Given the description of an element on the screen output the (x, y) to click on. 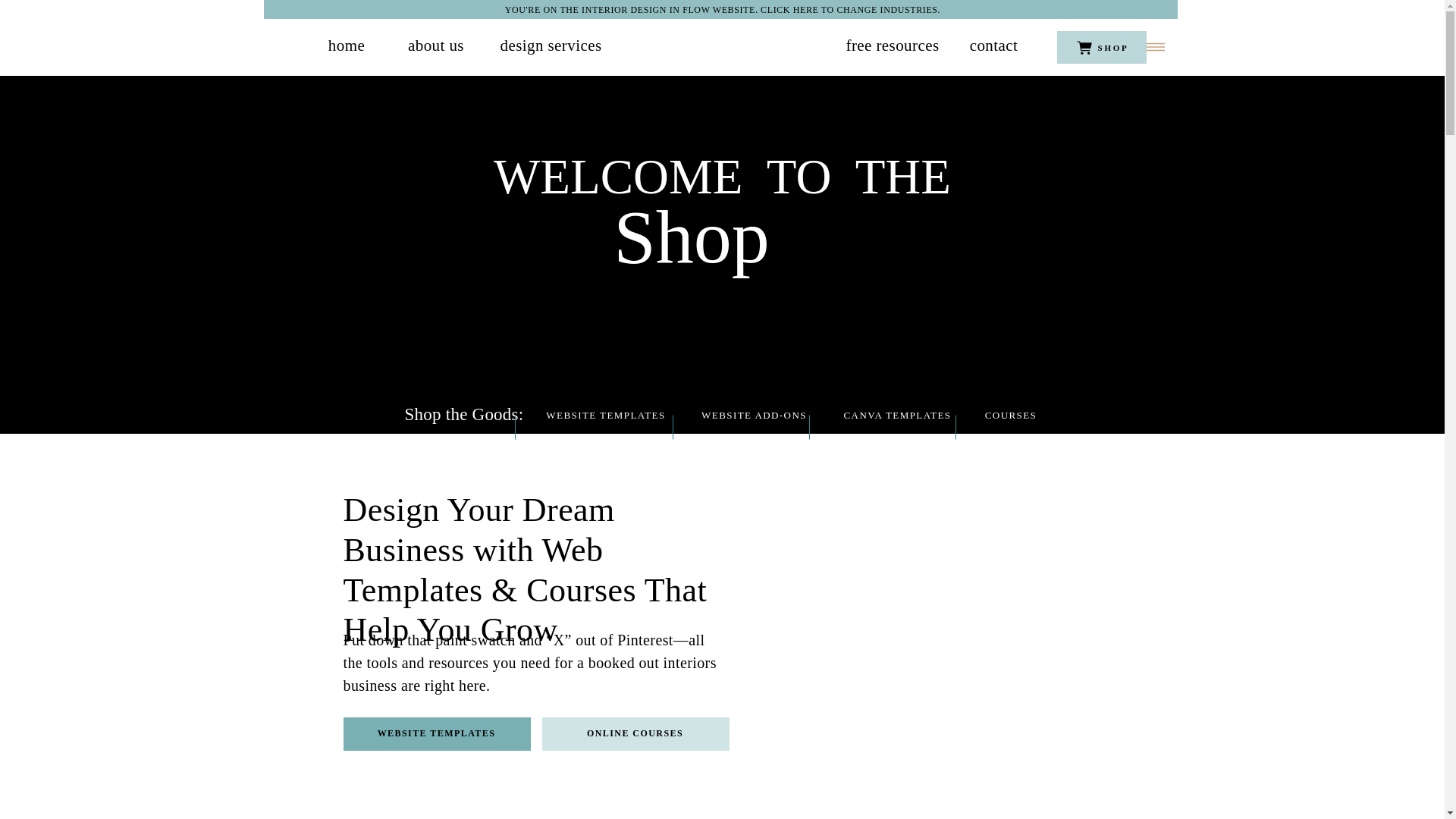
WEBSITE TEMPLATES (436, 735)
WEBSITE TEMPLATES (605, 417)
free resources (891, 46)
SHOP (1112, 47)
CANVA TEMPLATES (896, 417)
design services (550, 46)
home (346, 46)
contact (993, 46)
WEBSITE ADD-ONS (753, 417)
ONLINE COURSES (635, 735)
about us (435, 46)
COURSES (1010, 417)
